Given the description of an element on the screen output the (x, y) to click on. 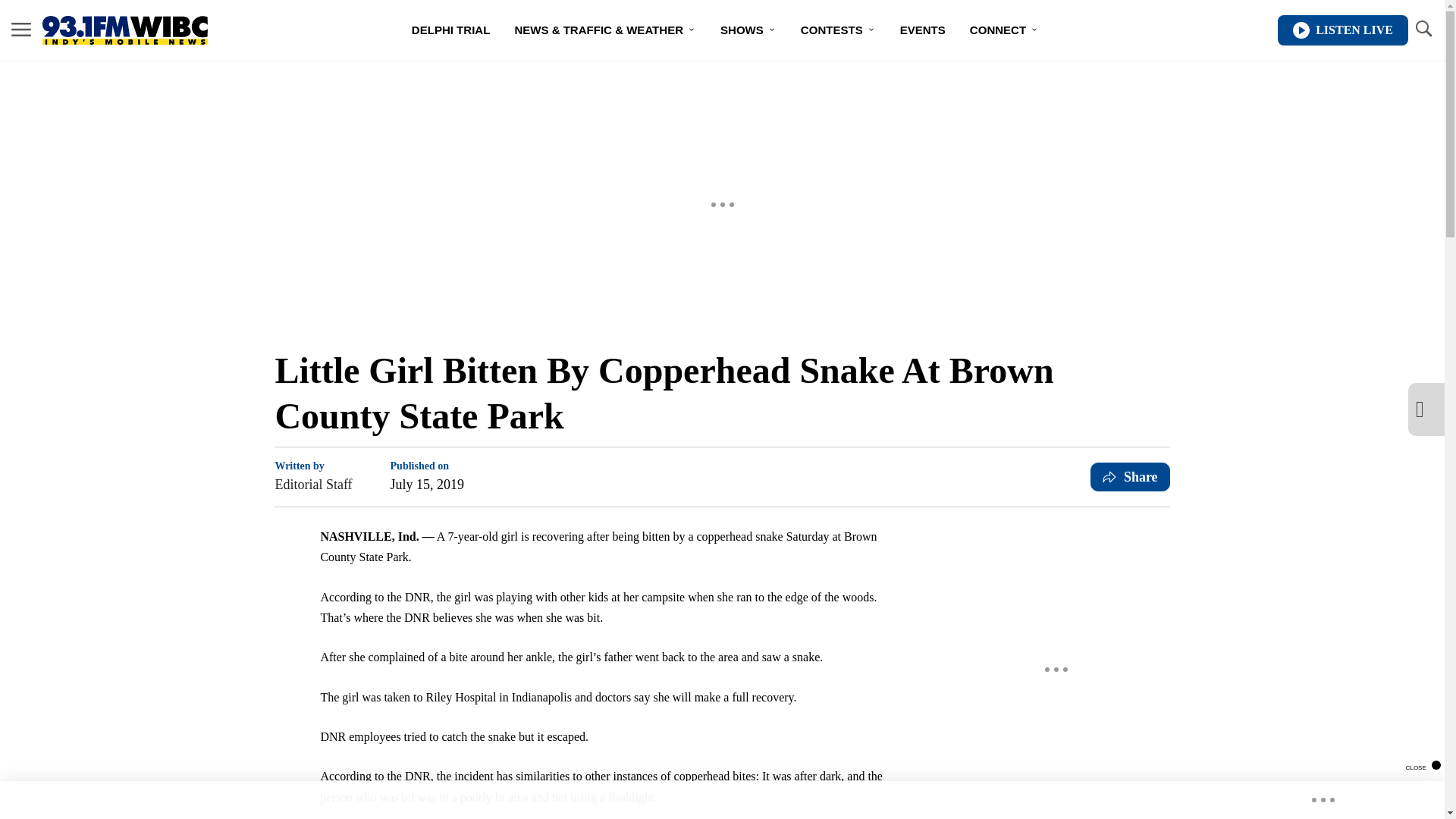
SHOWS (748, 30)
EVENTS (923, 30)
CONNECT (1004, 30)
TOGGLE SEARCH (1422, 28)
TOGGLE SEARCH (1422, 30)
MENU (20, 29)
MENU (20, 30)
CONTESTS (838, 30)
DELPHI TRIAL (450, 30)
LISTEN LIVE (1342, 30)
